Given the description of an element on the screen output the (x, y) to click on. 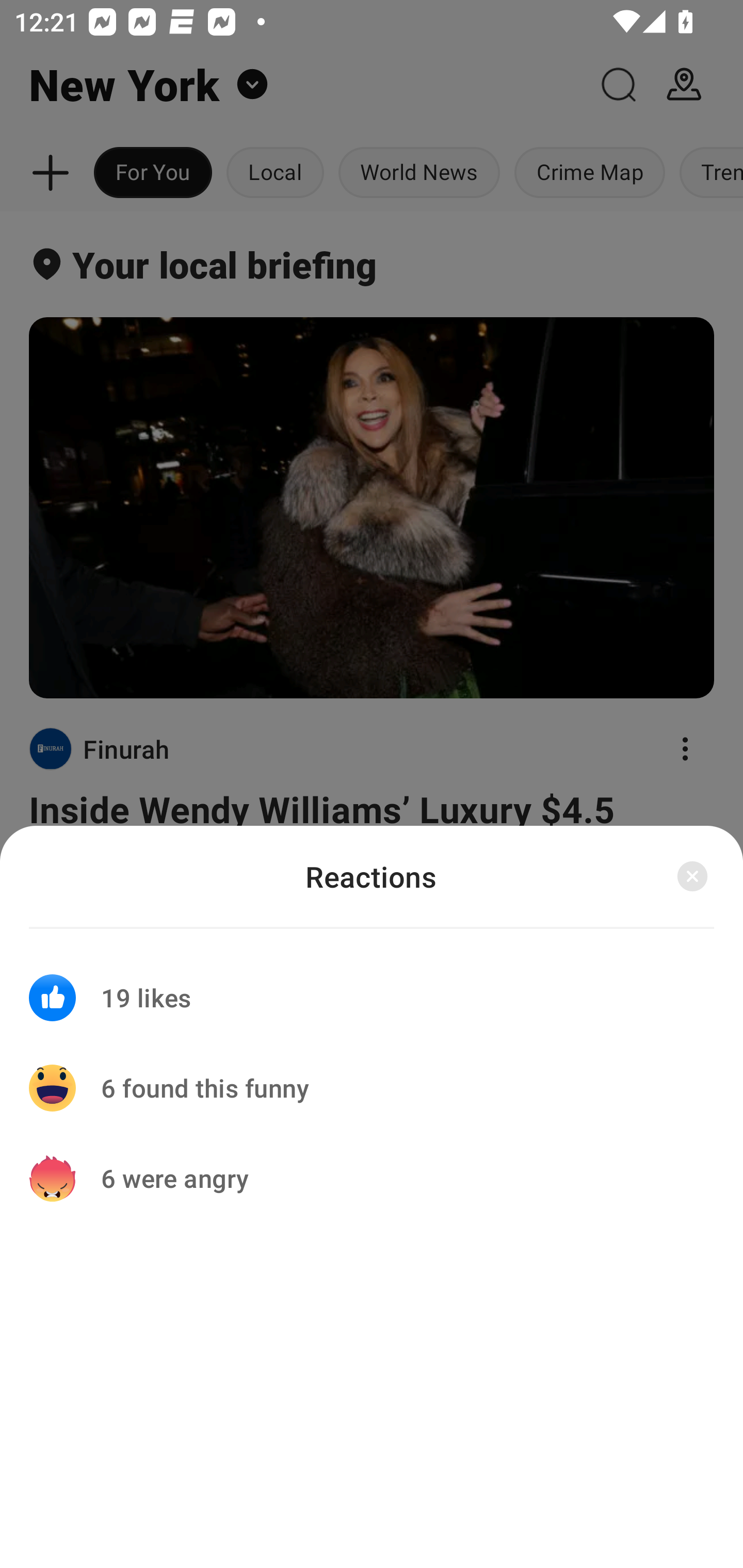
19 likes (371, 985)
6 found this funny (371, 1087)
6 were angry (371, 1178)
